Given the description of an element on the screen output the (x, y) to click on. 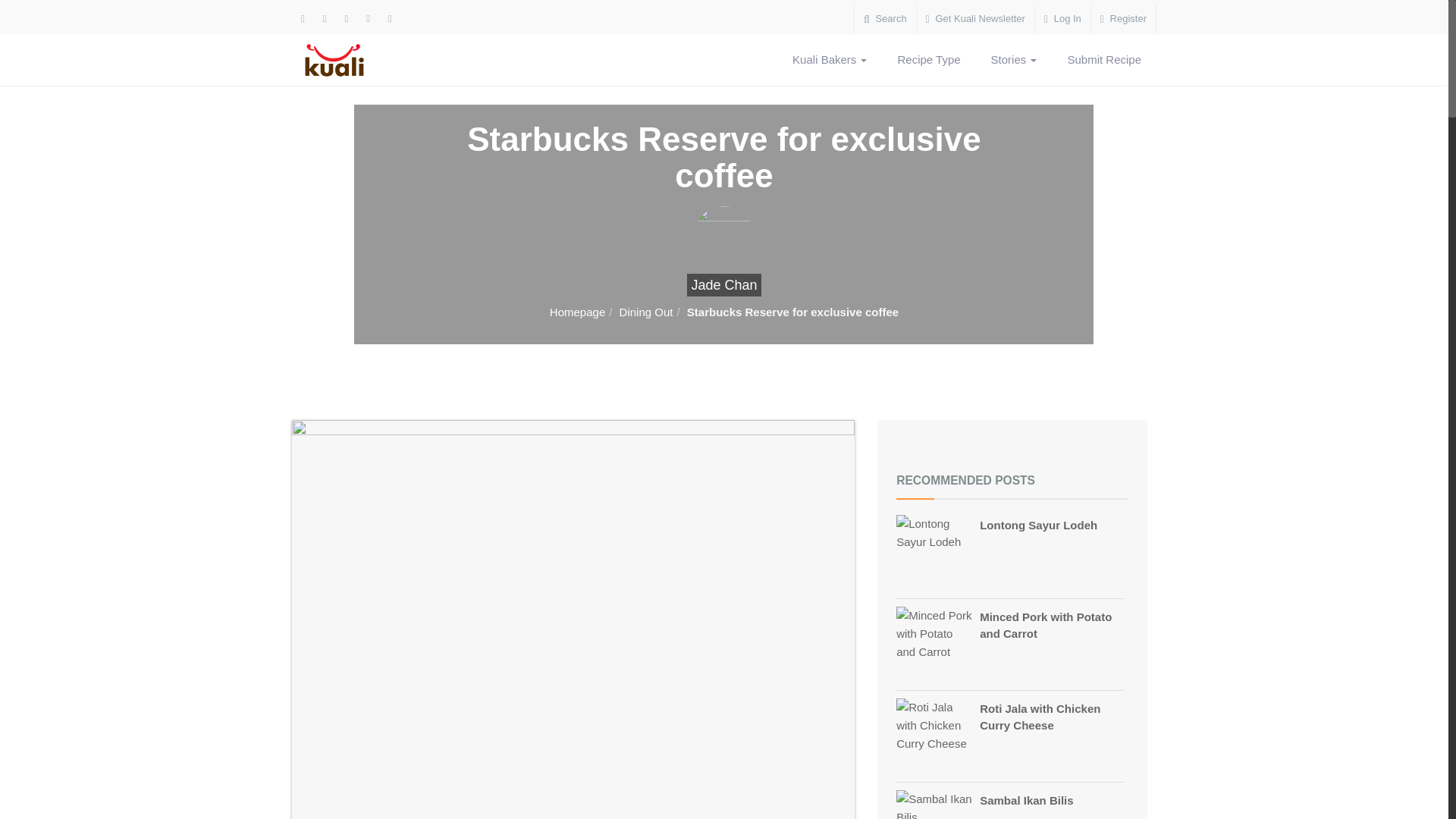
Recipe Type (928, 59)
Stories (1013, 59)
Submit Recipe (1103, 59)
Dining Out (646, 311)
Starbucks Reserve for exclusive coffee (792, 311)
Posts by Jade Chan (723, 284)
Homepage (577, 311)
Homepage (577, 311)
Register (1123, 19)
Log In (1062, 19)
Malaysian Food, Recipes, Restaurants (344, 59)
Kuali Bakers (829, 59)
Get Kuali Newsletter (975, 19)
Jade Chan (723, 284)
Search (884, 19)
